Given the description of an element on the screen output the (x, y) to click on. 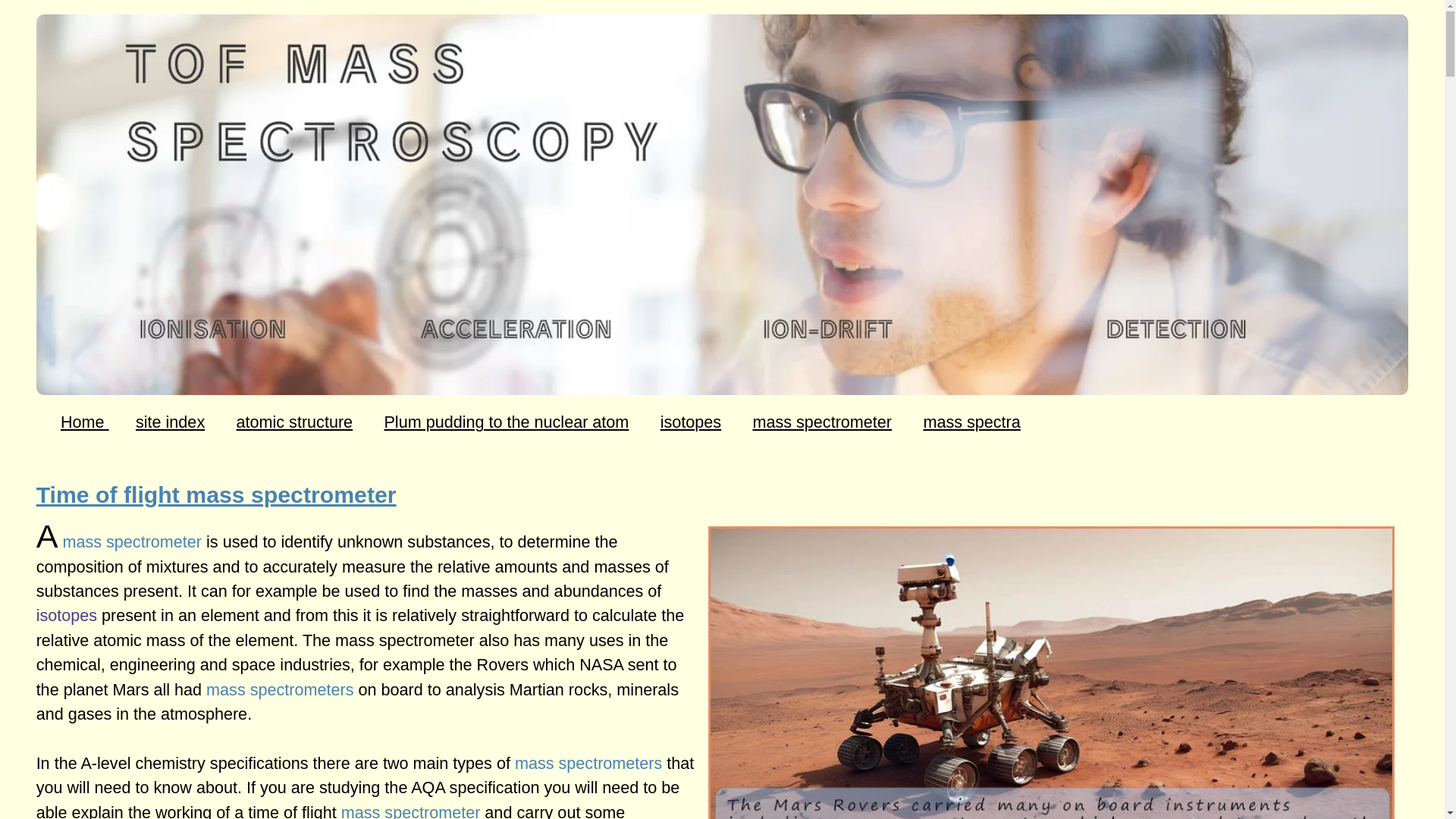
mass spectra (971, 421)
Plum pudding to the nuclear atom (506, 421)
site index (170, 421)
atomic structure (294, 421)
Home (85, 421)
isotopes (690, 421)
mass spectrometer (821, 421)
